Given the description of an element on the screen output the (x, y) to click on. 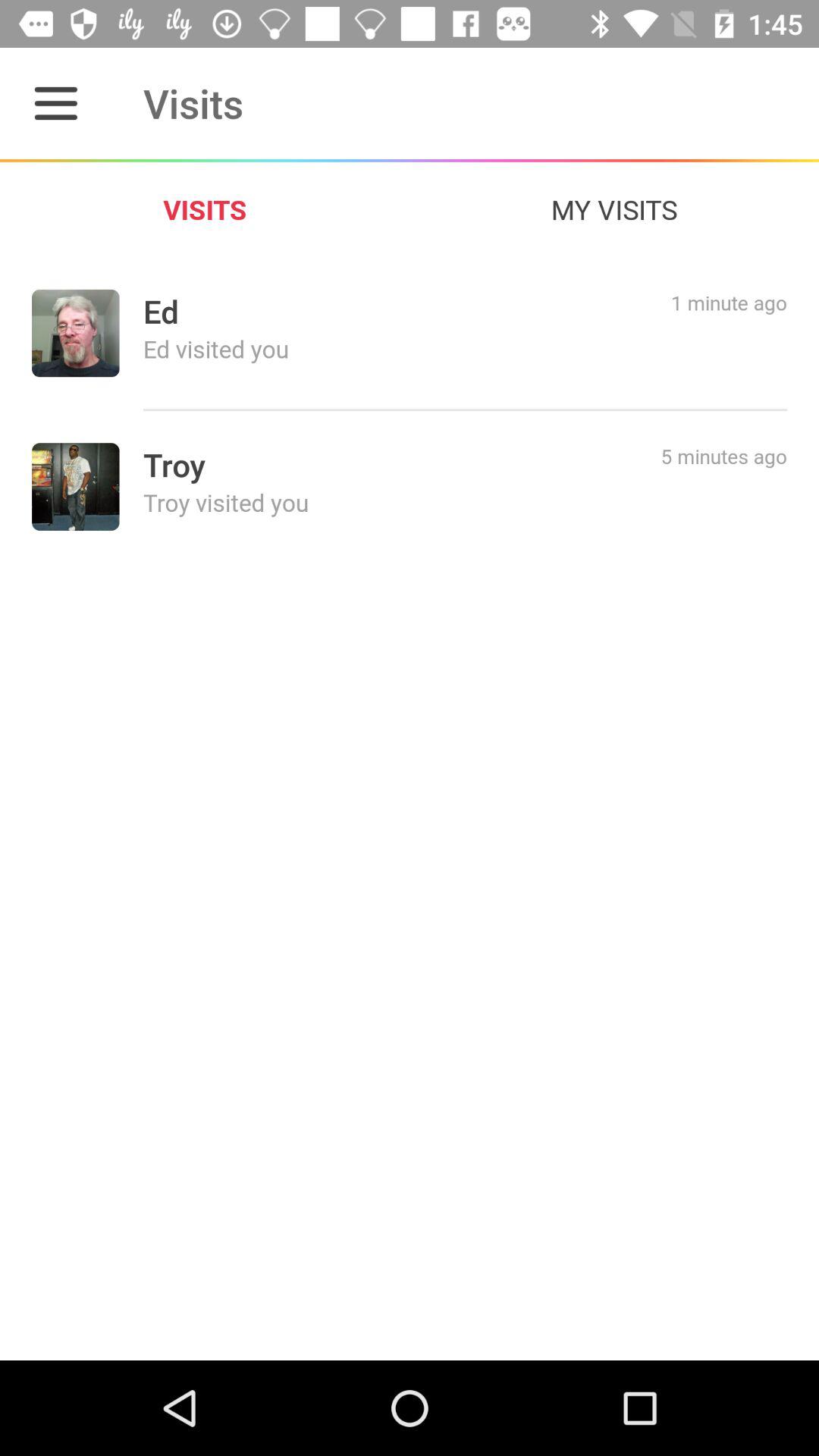
turn off item next to the visits item (55, 103)
